Given the description of an element on the screen output the (x, y) to click on. 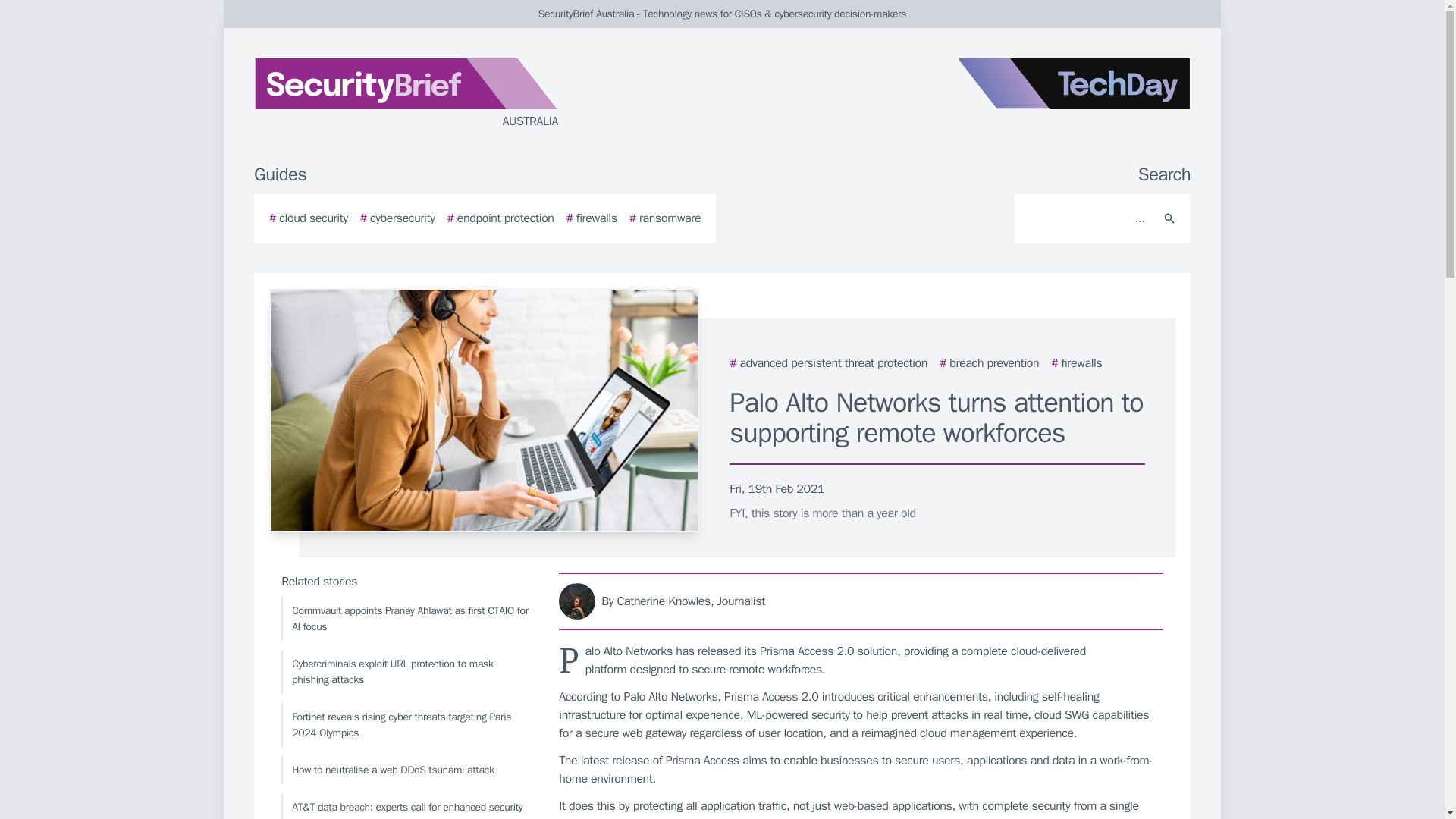
AUSTRALIA (435, 94)
By Catherine Knowles, Journalist (861, 601)
How to neutralise a web DDoS tsunami attack (406, 769)
